Given the description of an element on the screen output the (x, y) to click on. 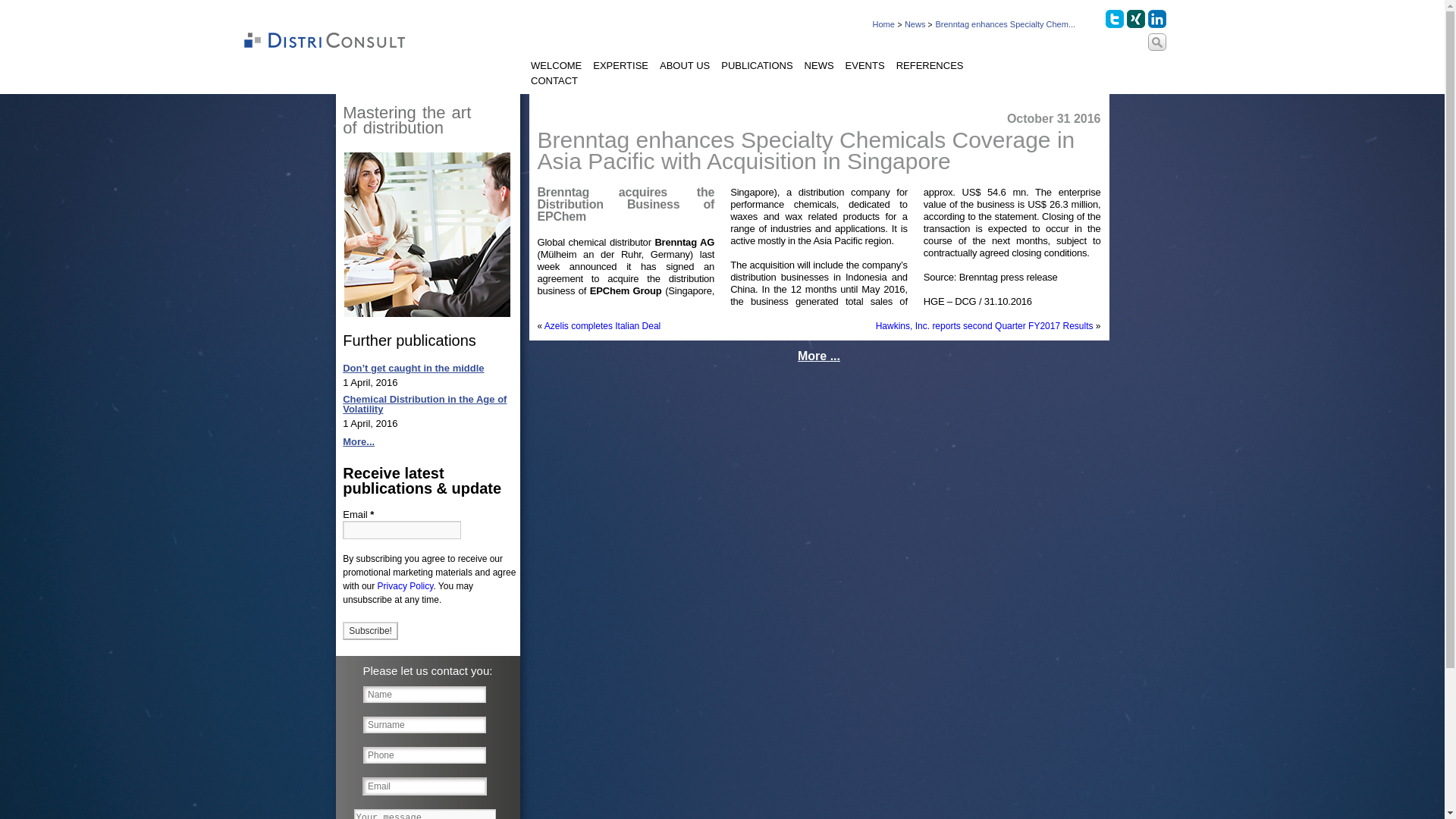
Email (401, 529)
ABOUT US (684, 67)
Subscribe! (369, 630)
News (915, 24)
EVENTS (865, 67)
Brenntag enhances Specialty Chem... (1004, 24)
PUBLICATIONS (756, 67)
Azelis completes Italian Deal (602, 326)
Home (883, 24)
EXPERTISE (619, 67)
